Given the description of an element on the screen output the (x, y) to click on. 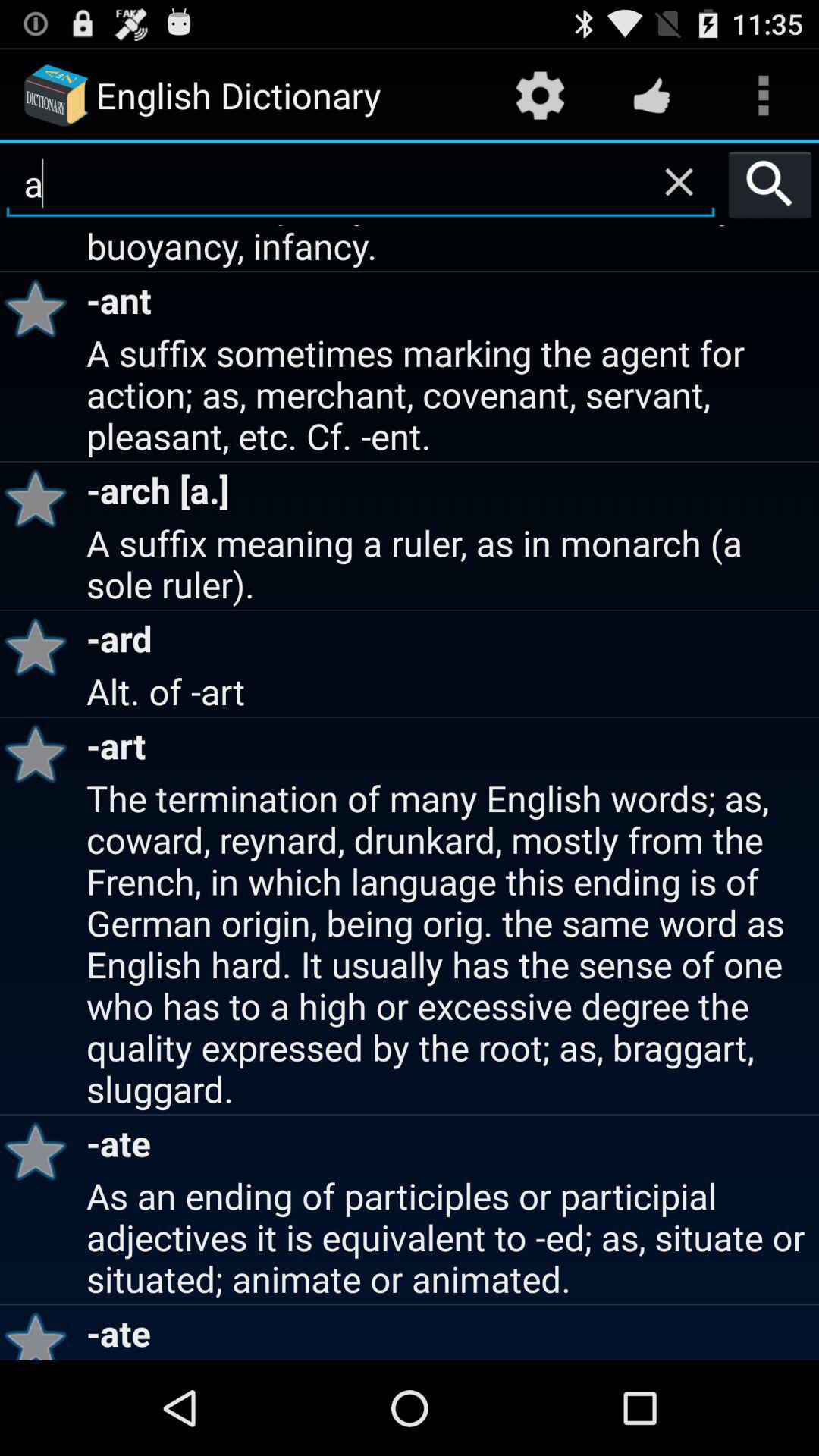
select item above the a suffix expressing app (770, 184)
